Given the description of an element on the screen output the (x, y) to click on. 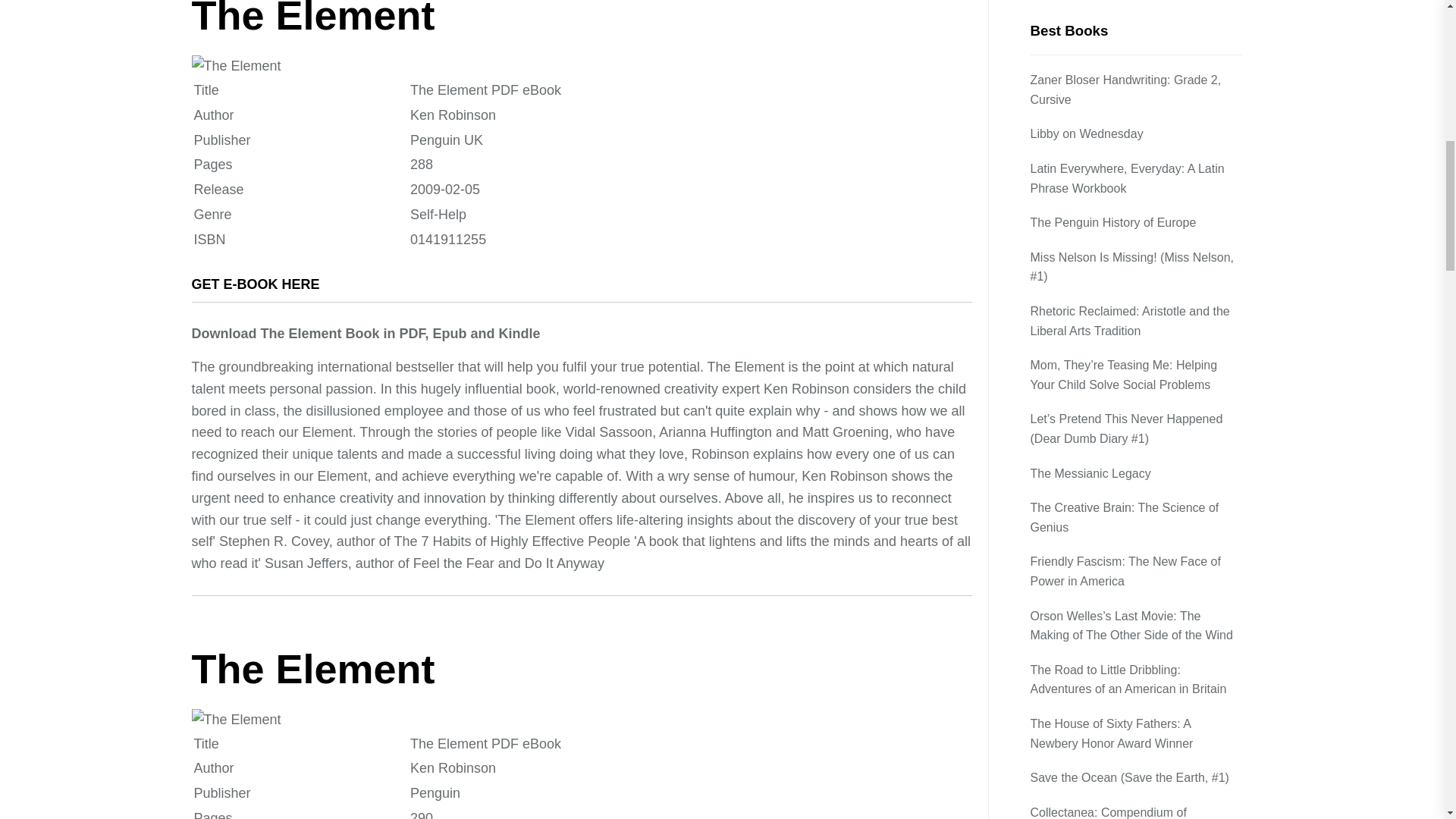
The House of Sixty Fathers: A Newbery Honor Award Winner (1135, 26)
The Colossus of New York (1102, 193)
GET E-BOOK HERE (254, 283)
Make-Believe Tales: A Folk Tale from Burma (1135, 292)
Collectanea: Compendium of Thoughts (1135, 115)
Profit Over People: Neoliberalism and Global Order (1135, 238)
Maybelle the Cable Car (1095, 159)
